Given the description of an element on the screen output the (x, y) to click on. 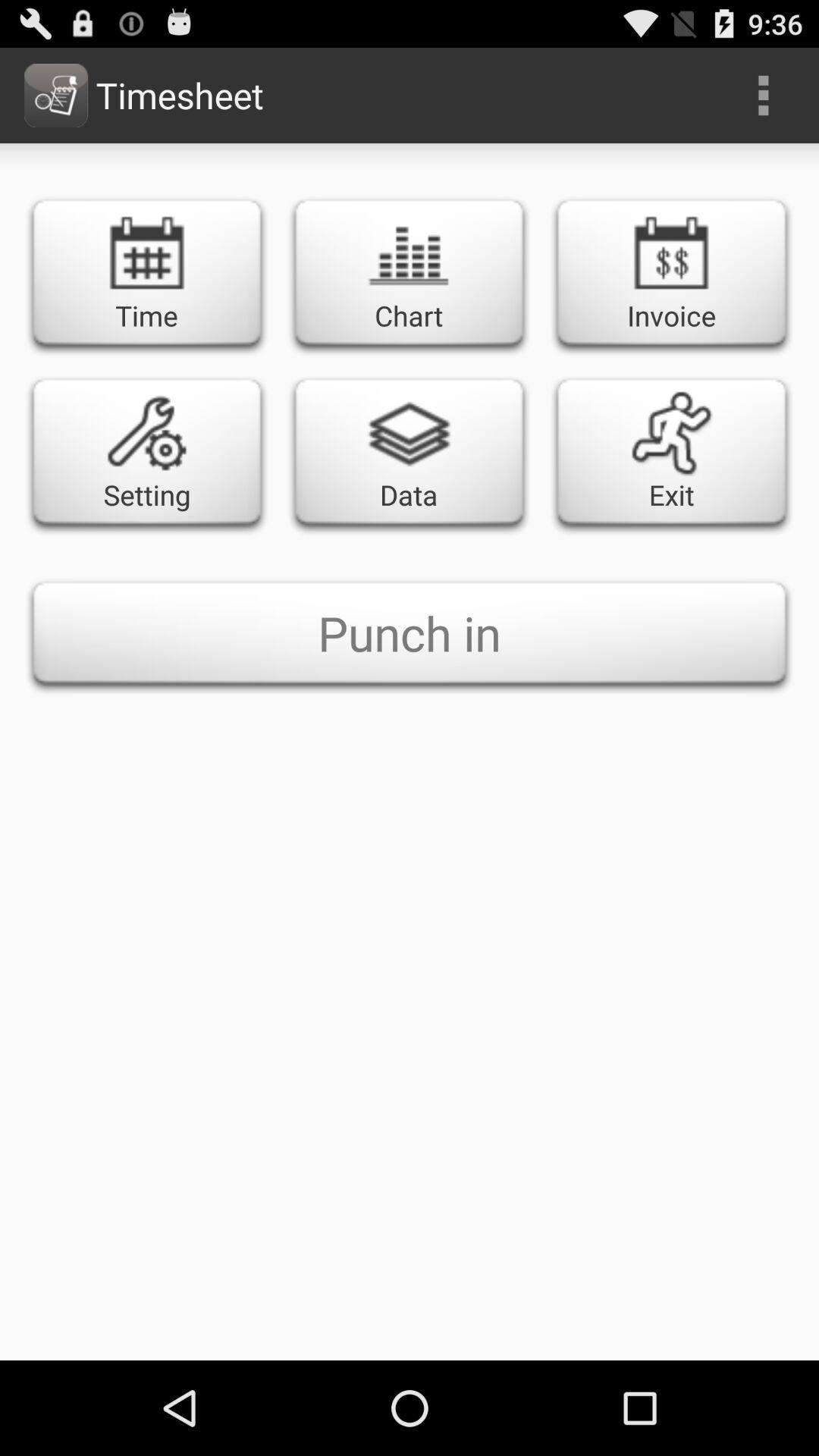
select image above setting (147, 433)
select the image next to timesheet (55, 95)
click on the icon above the exit (671, 254)
click the exit button on the web page (671, 451)
